Given the description of an element on the screen output the (x, y) to click on. 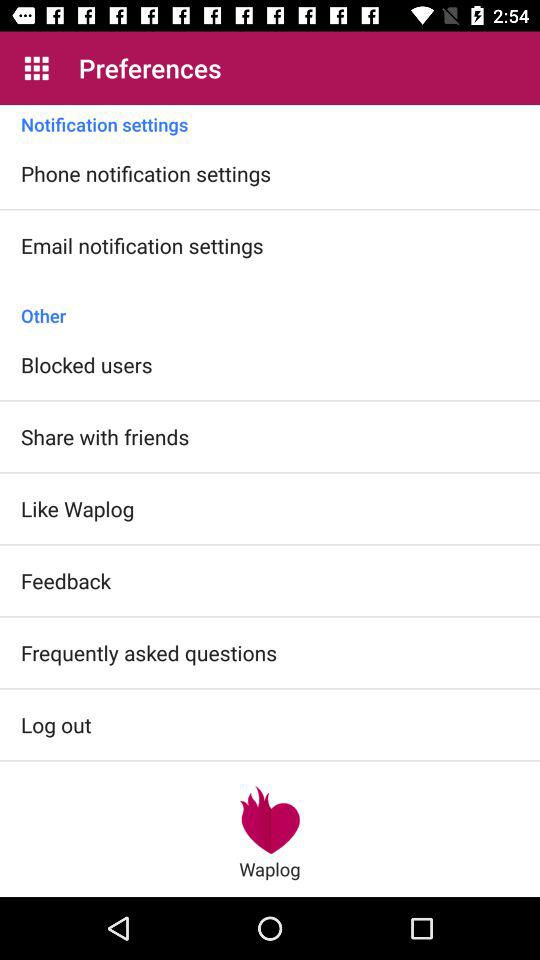
click item above notification settings item (36, 68)
